Given the description of an element on the screen output the (x, y) to click on. 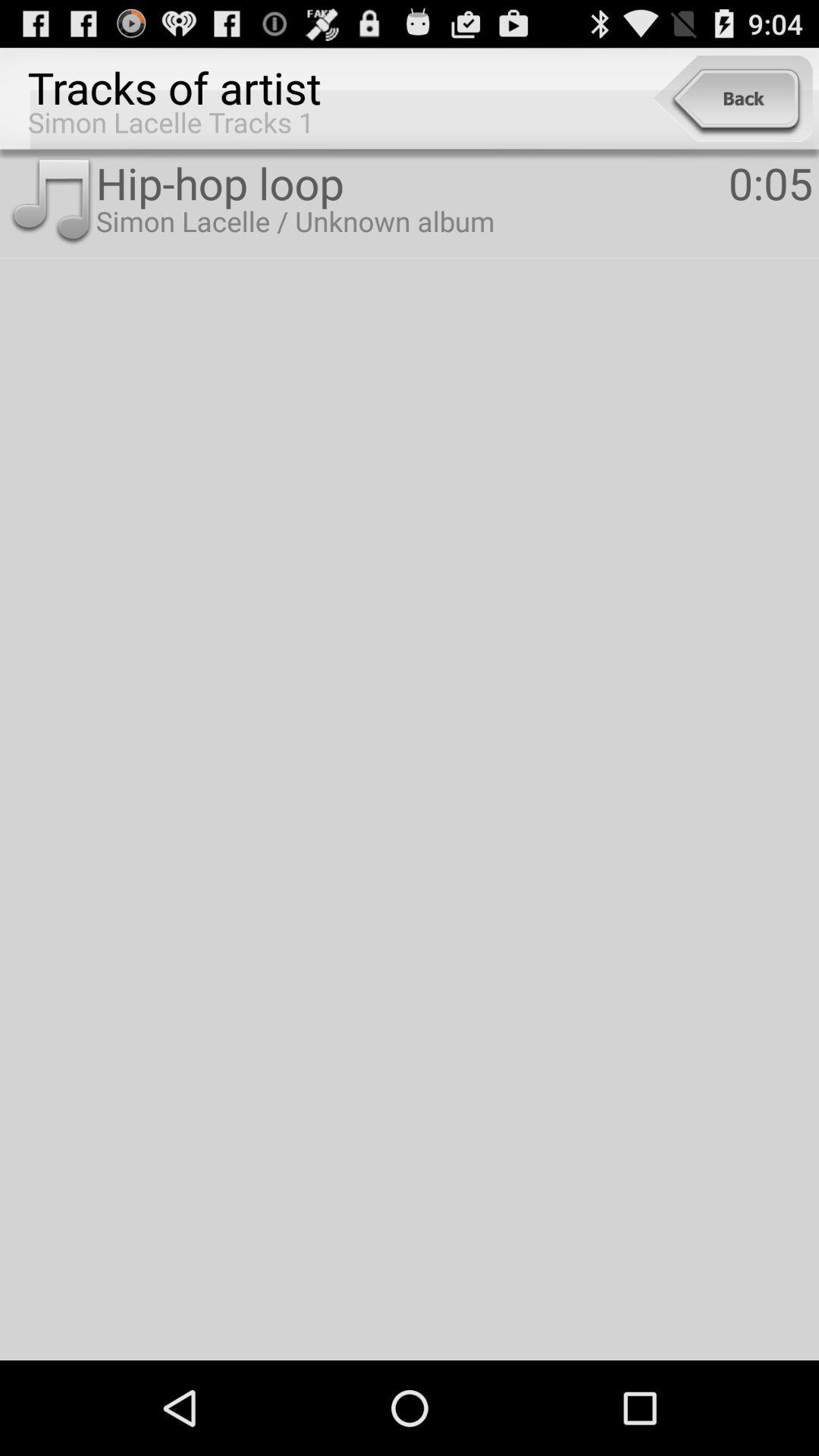
turn off the icon next to hip-hop loop (51, 201)
